Given the description of an element on the screen output the (x, y) to click on. 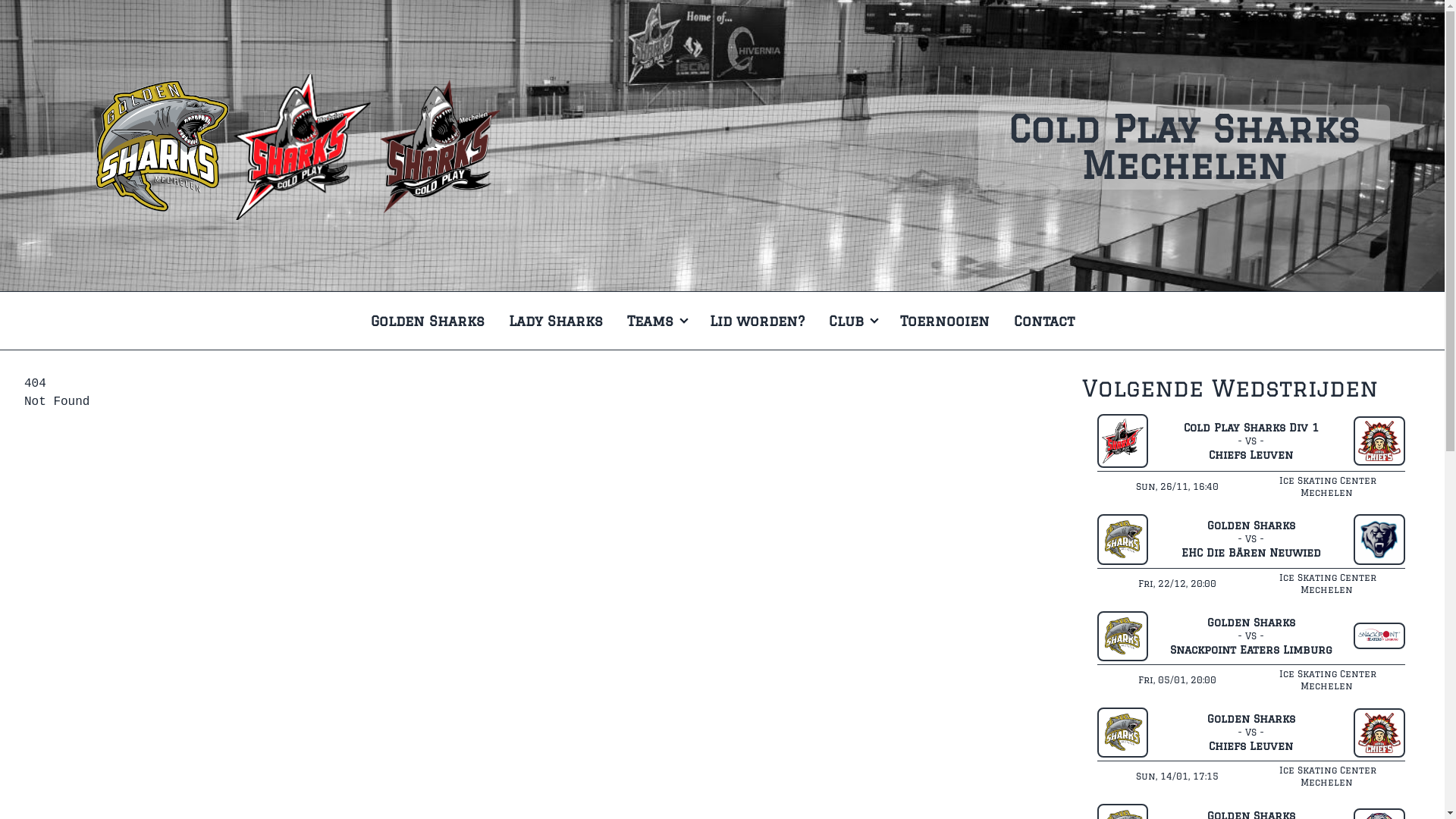
Lid worden? Element type: text (756, 320)
Lady Sharks Element type: text (554, 320)
Golden Sharks Element type: text (426, 320)
Contact Element type: text (1043, 320)
Cold Play Sharks
Mechelen Element type: text (1183, 146)
Toernooien Element type: text (944, 320)
